Given the description of an element on the screen output the (x, y) to click on. 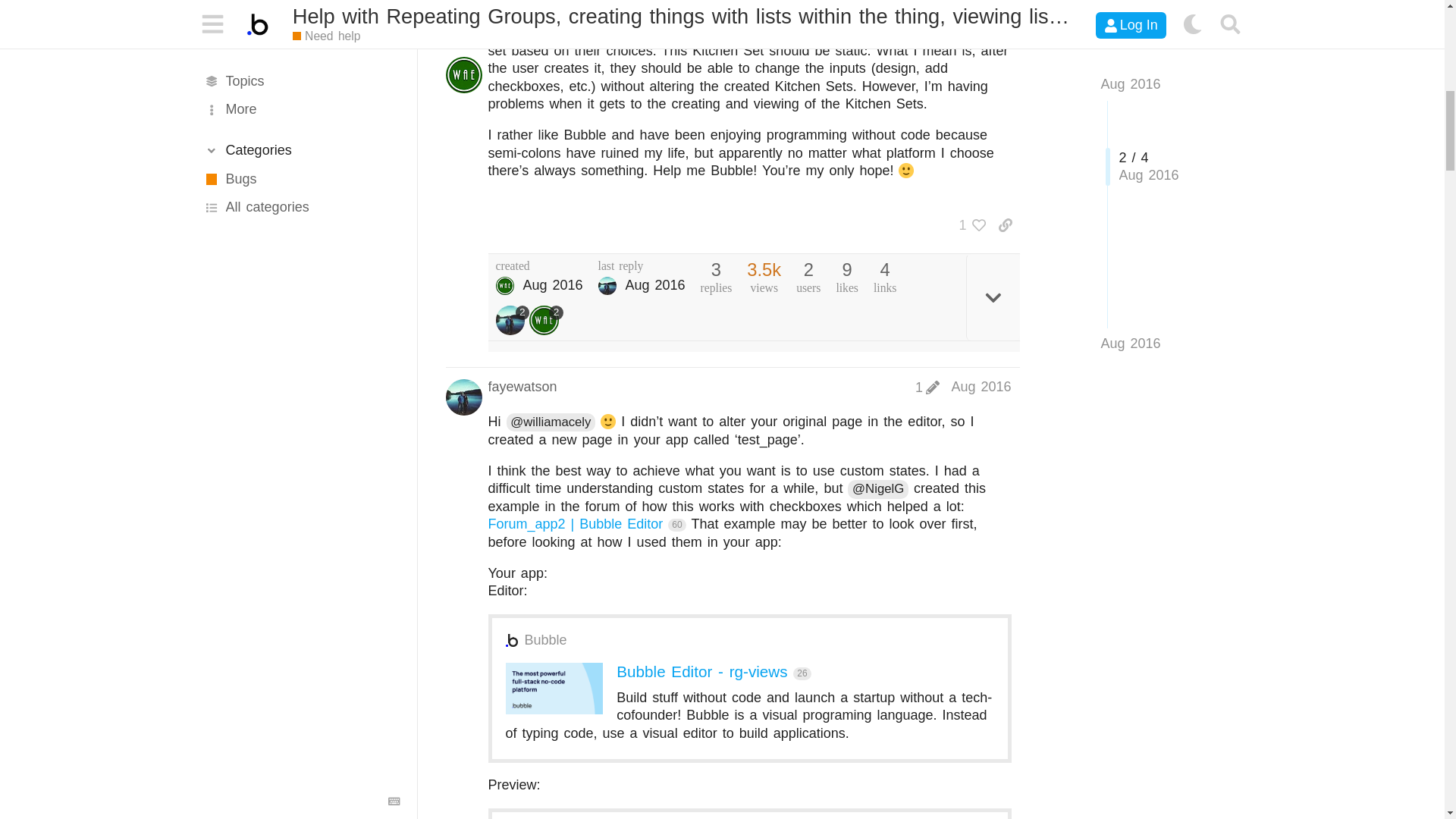
last reply (641, 265)
1 (967, 225)
Keyboard Shortcuts (394, 31)
2 (512, 319)
copy a link to this post to clipboard (1004, 225)
1 person liked this post (967, 225)
